Given the description of an element on the screen output the (x, y) to click on. 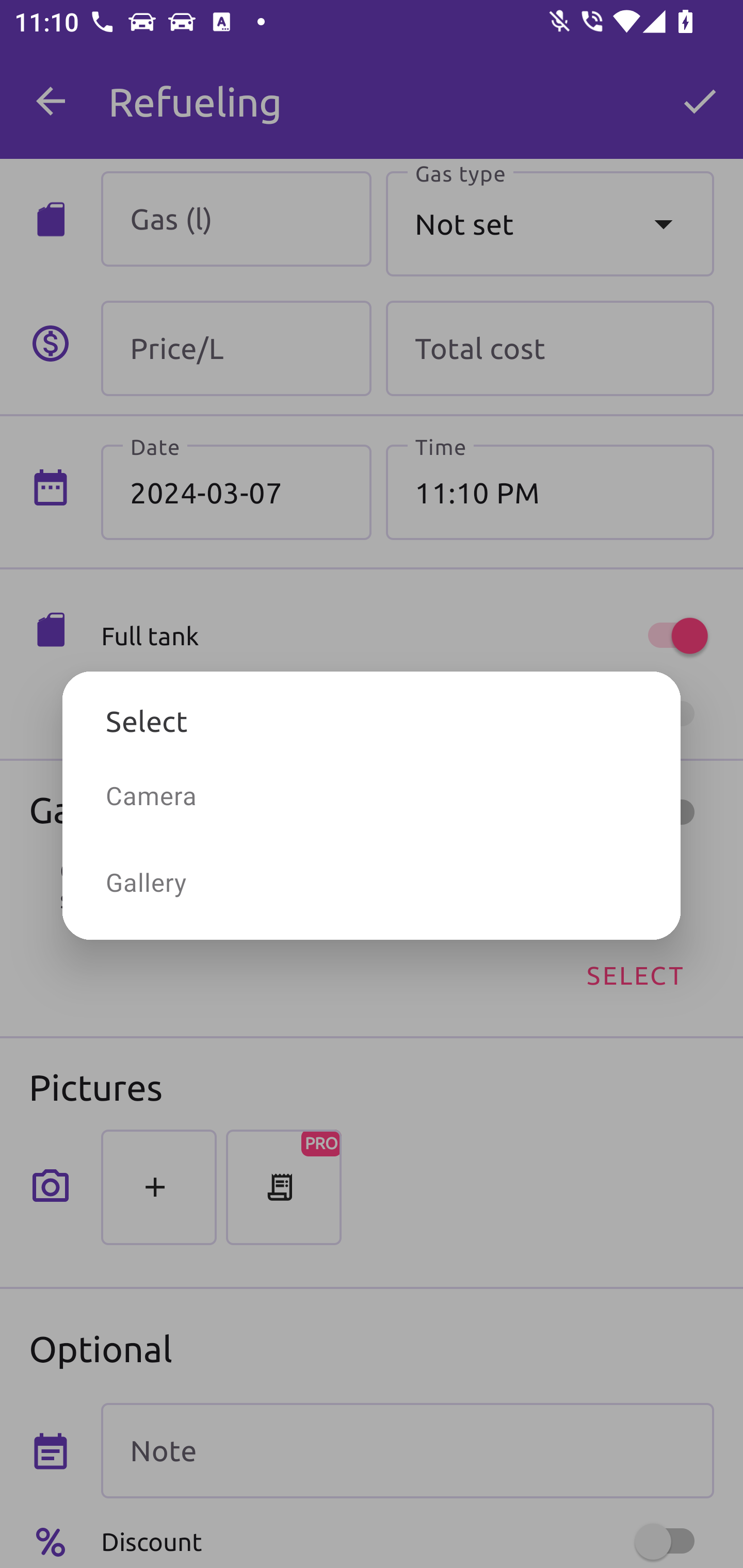
Camera (371, 795)
Gallery (371, 881)
